Given the description of an element on the screen output the (x, y) to click on. 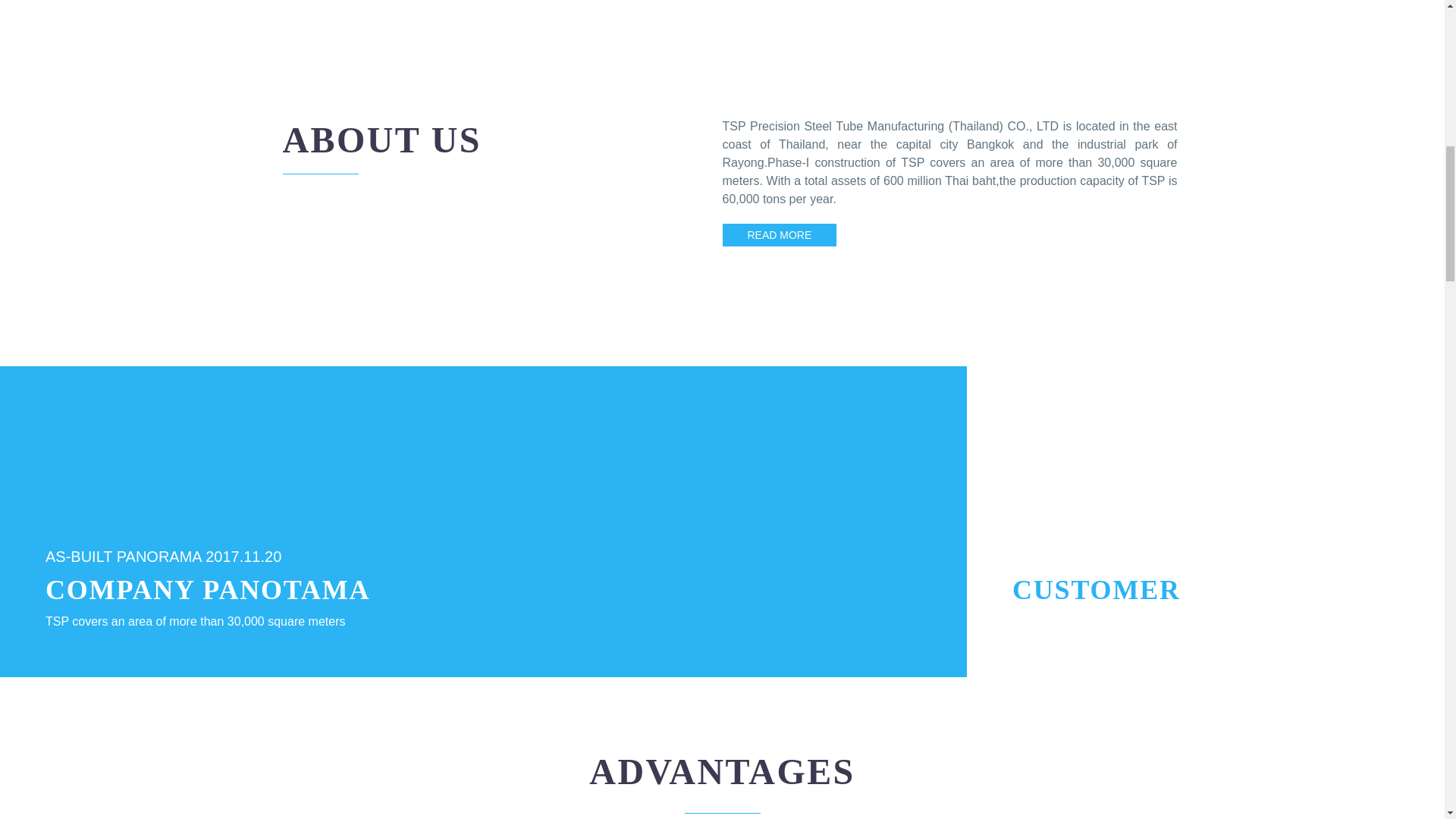
READ MORE (778, 234)
